Given the description of an element on the screen output the (x, y) to click on. 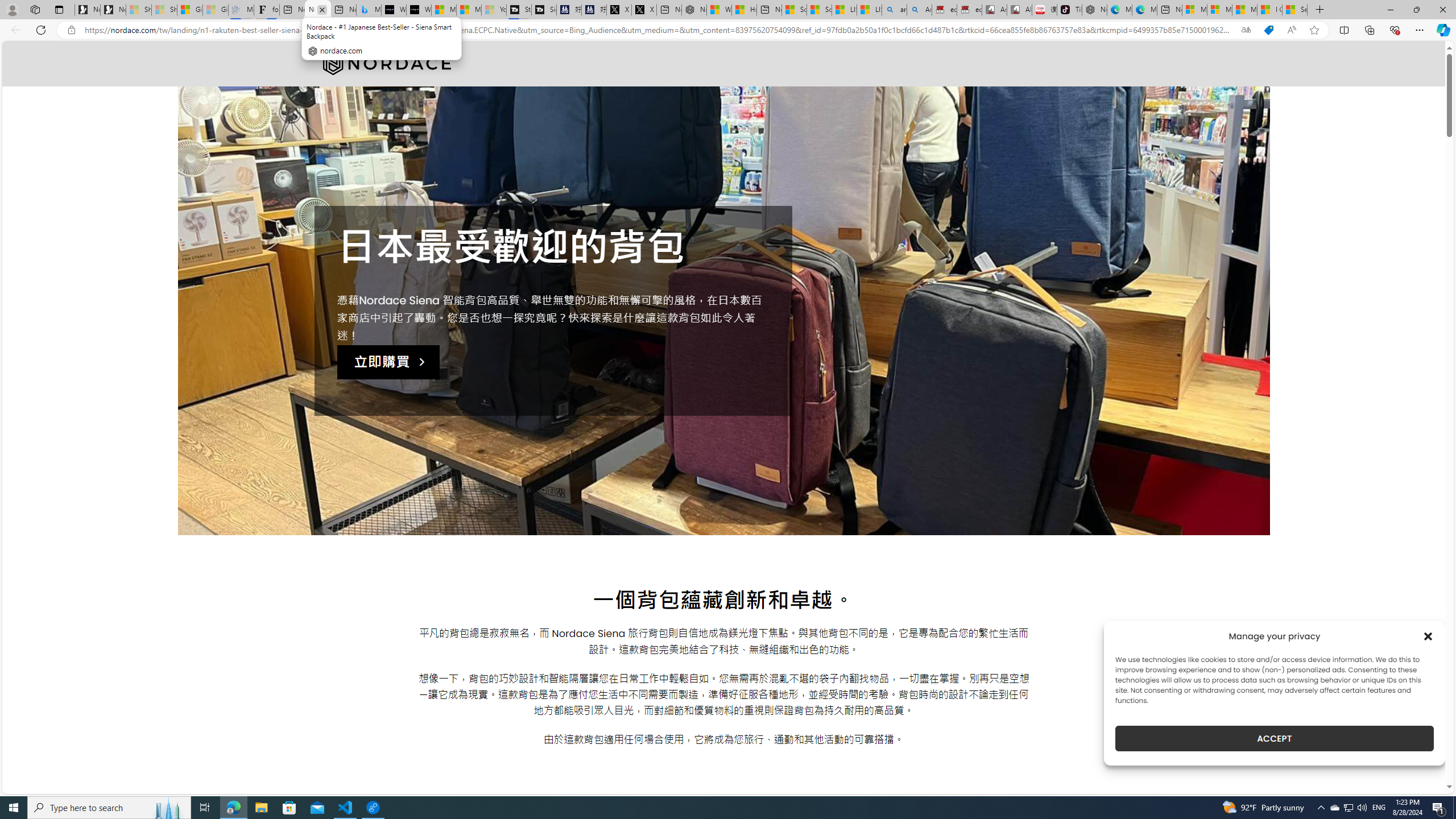
Class: cmplz-close (1428, 636)
TikTok (1069, 9)
